Given the description of an element on the screen output the (x, y) to click on. 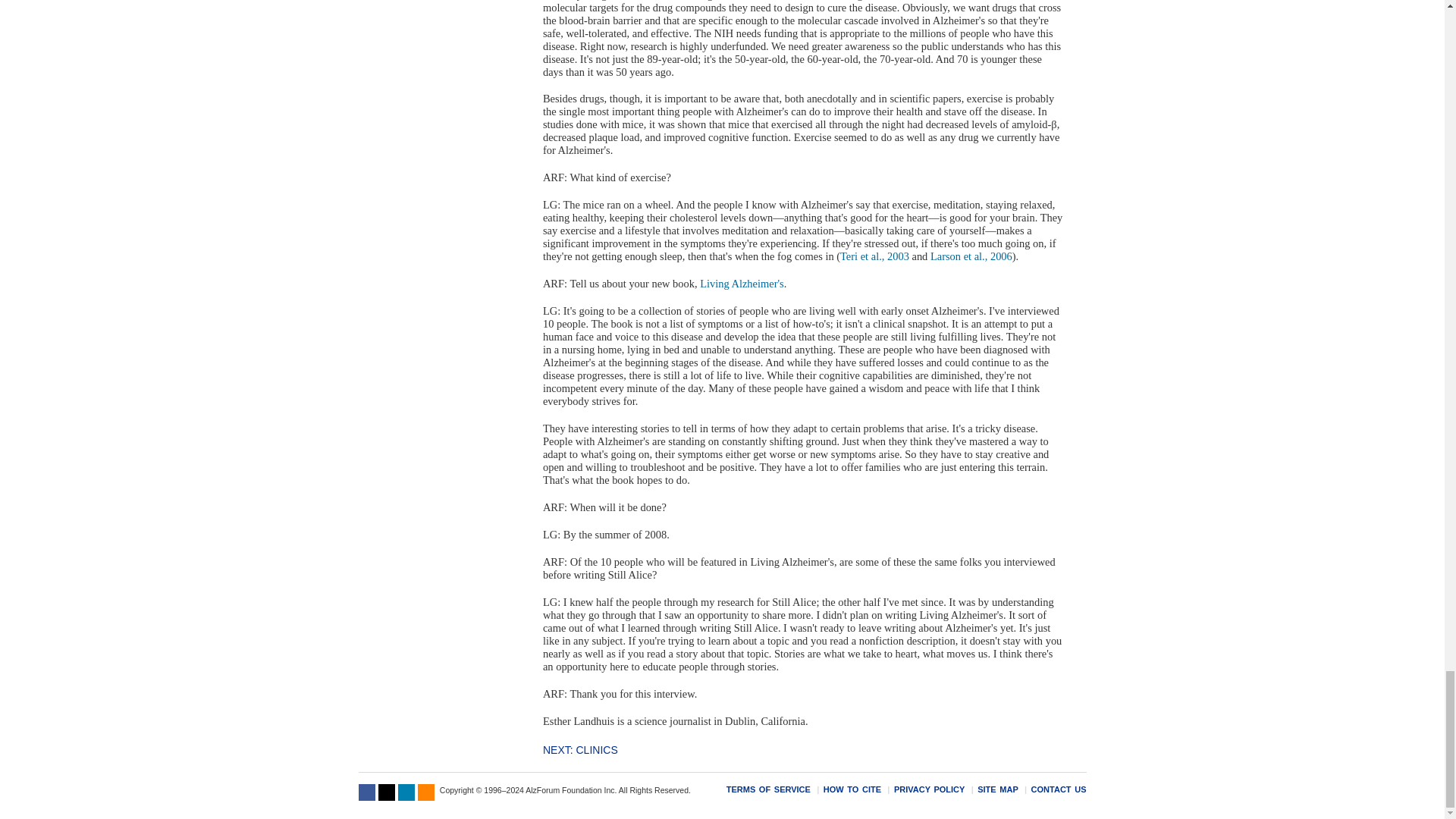
Living Alzheimer's (741, 283)
Larson et al., 2006 (970, 256)
Teri et al., 2003 (874, 256)
Go to next page (580, 749)
NEXT: CLINICS (580, 749)
